Given the description of an element on the screen output the (x, y) to click on. 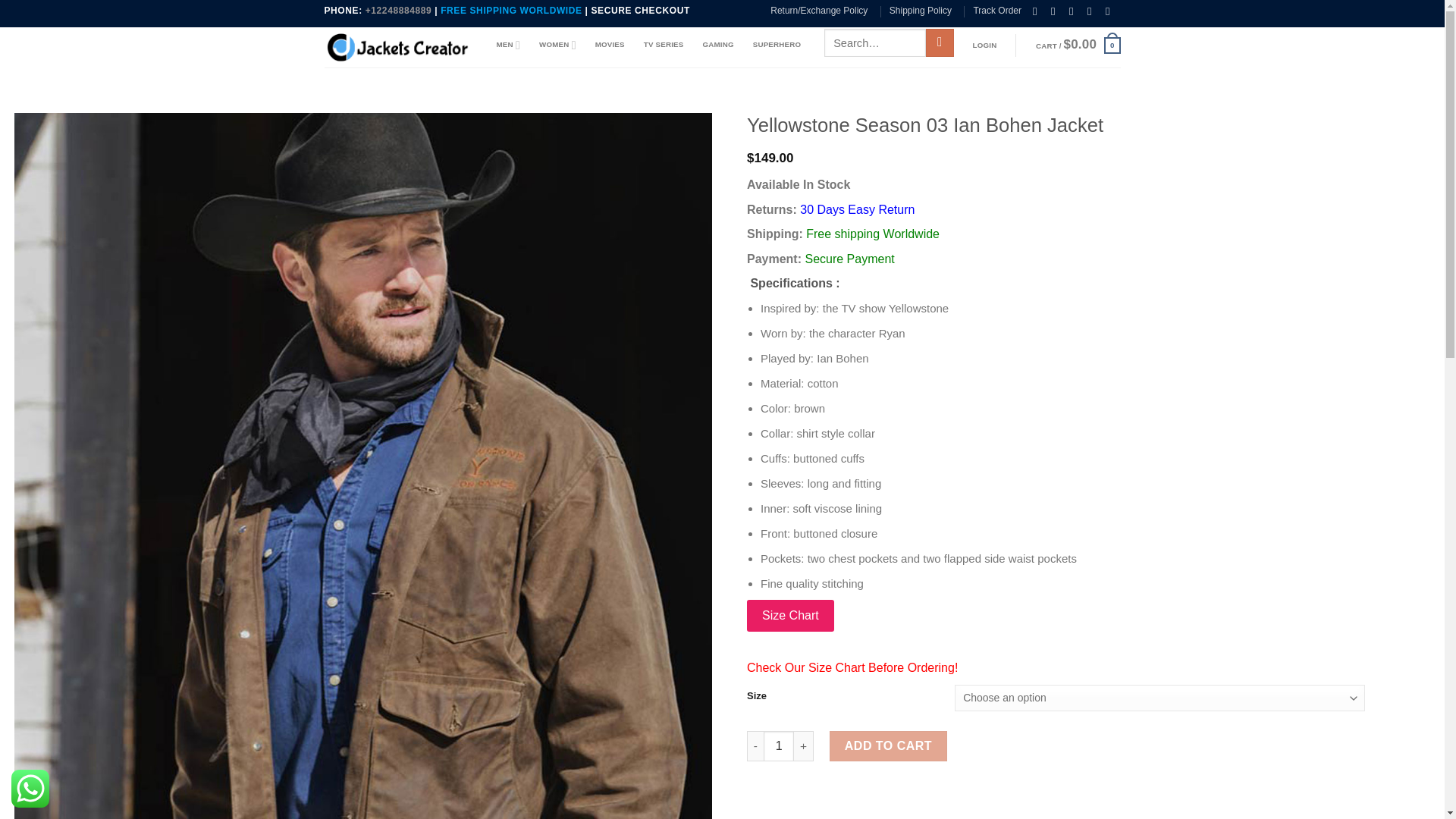
1 (777, 746)
Track Order (997, 11)
Jackets Creator (399, 47)
WOMEN (557, 44)
TV SERIES (663, 44)
Cart (1078, 45)
GAMING (717, 44)
Shipping Policy (920, 11)
